Given the description of an element on the screen output the (x, y) to click on. 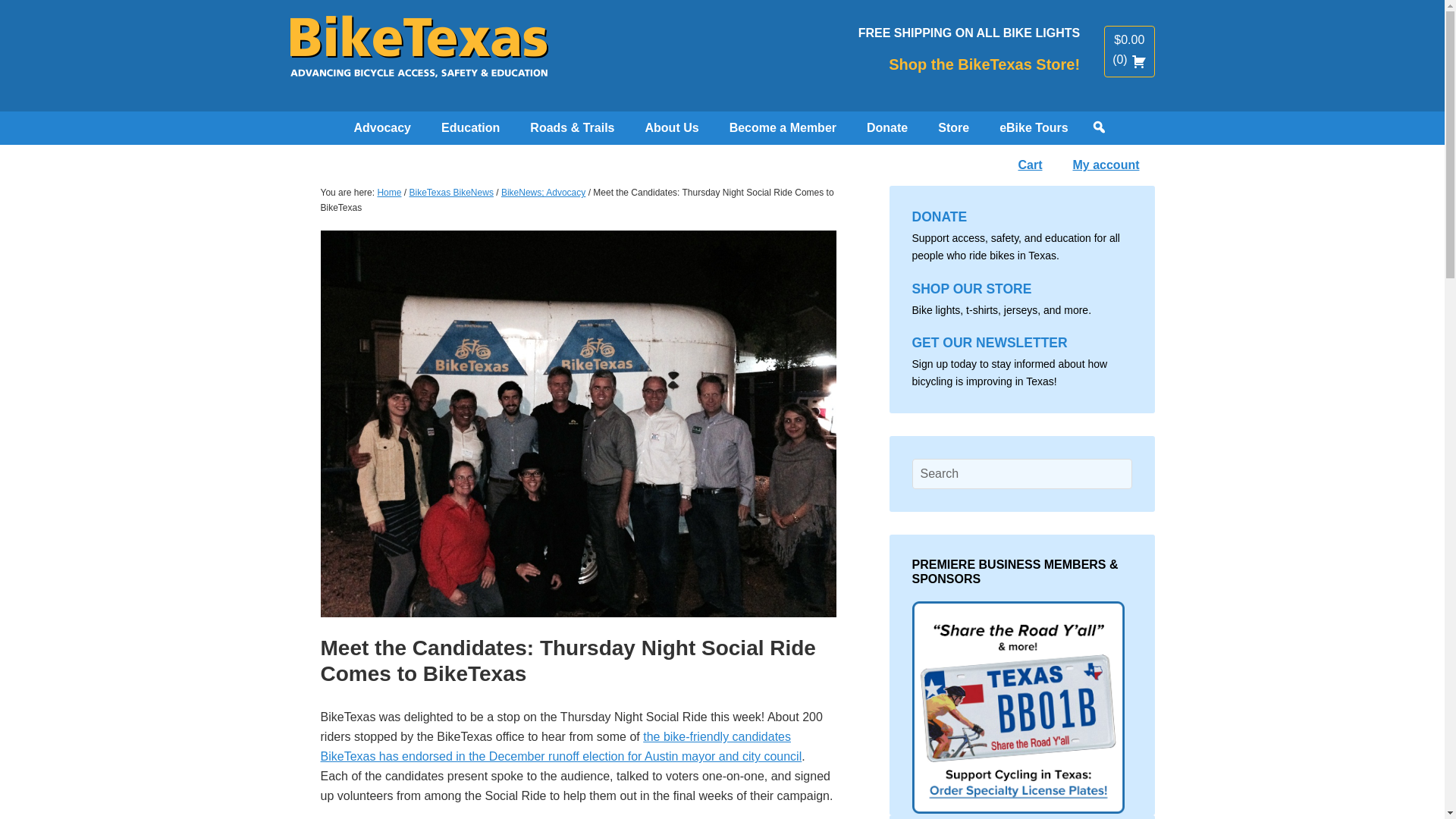
Shop the BikeTexas Store! (984, 64)
Education (470, 127)
Advocacy (381, 127)
View your shopping cart (1128, 59)
BIKETEXAS (418, 52)
View your shopping cart (1128, 39)
